Given the description of an element on the screen output the (x, y) to click on. 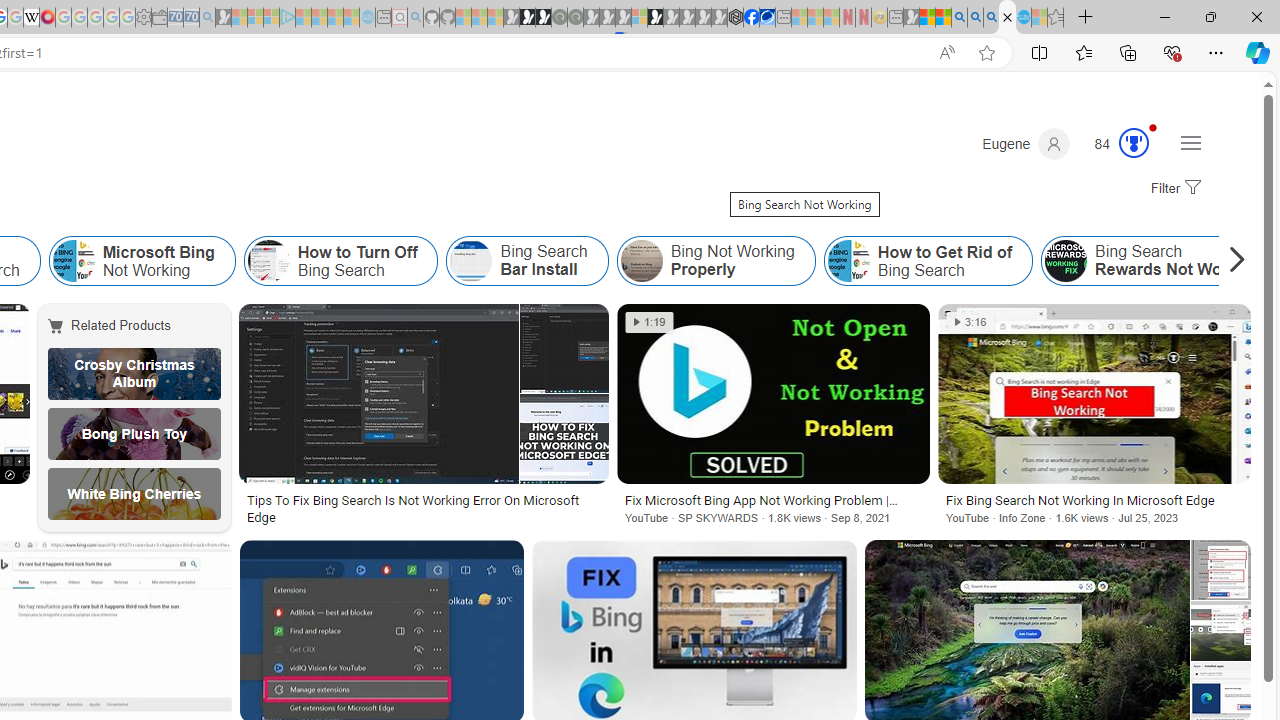
Favorites - Sleeping (1055, 17)
Settings and quick links (1190, 142)
